Given the description of an element on the screen output the (x, y) to click on. 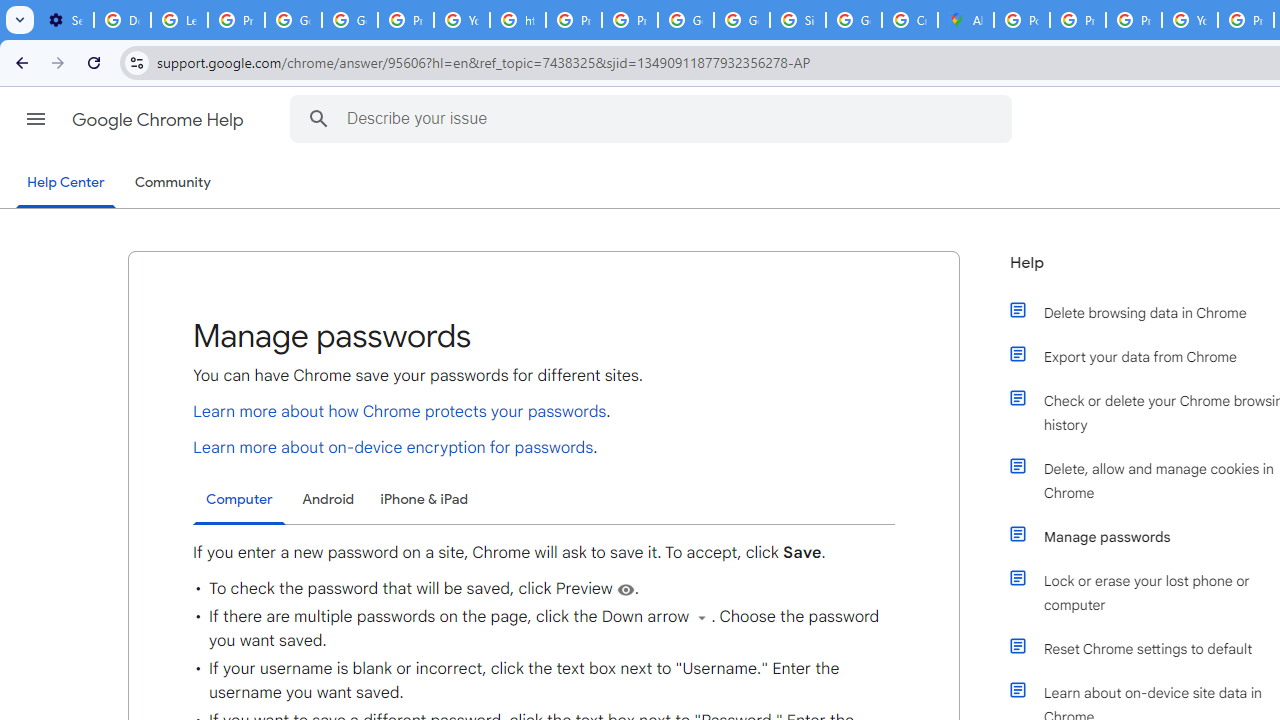
Learn more about how Chrome protects your passwords (399, 411)
Privacy Help Center - Policies Help (1077, 20)
Delete photos & videos - Computer - Google Photos Help (122, 20)
Privacy Help Center - Policies Help (1133, 20)
Create your Google Account (909, 20)
YouTube (461, 20)
Google Chrome Help (159, 119)
Help Center (65, 183)
